Given the description of an element on the screen output the (x, y) to click on. 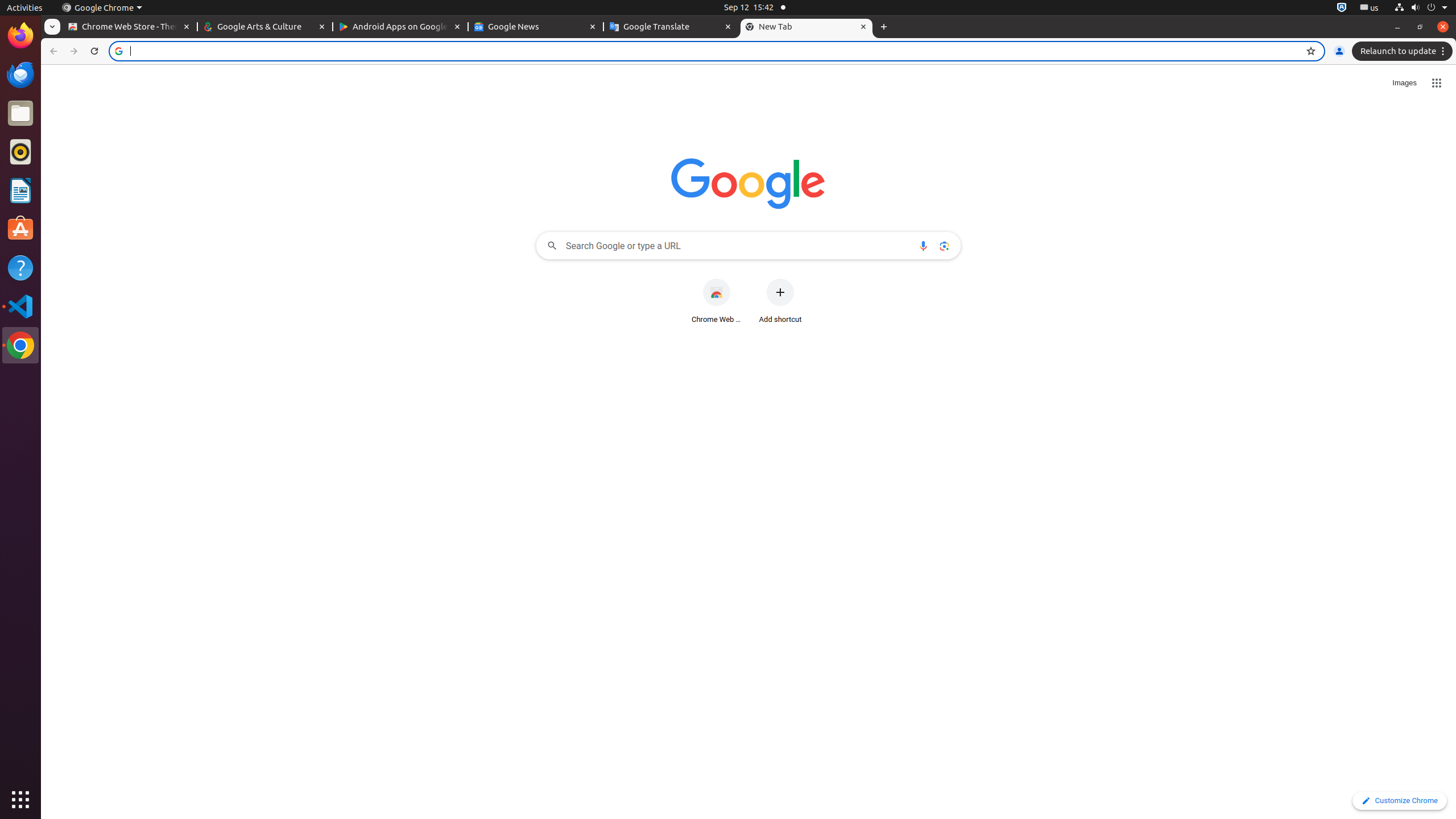
Ubuntu Software Element type: push-button (20, 229)
Search for Images  Element type: link (1404, 82)
Google Chrome Element type: menu (101, 7)
Help Element type: push-button (20, 267)
Add shortcut Element type: push-button (780, 301)
